Given the description of an element on the screen output the (x, y) to click on. 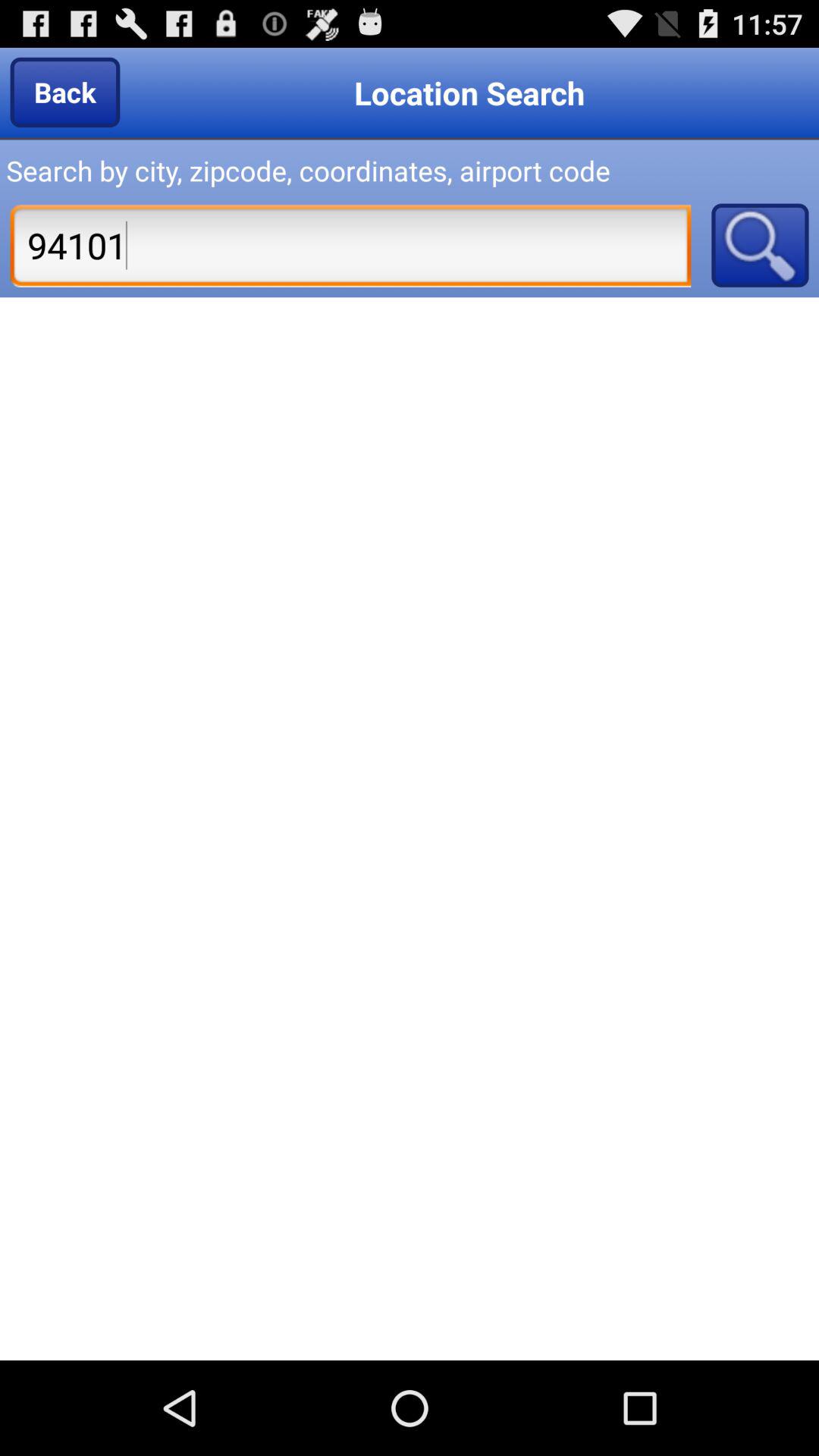
open item below 94101 item (409, 828)
